Given the description of an element on the screen output the (x, y) to click on. 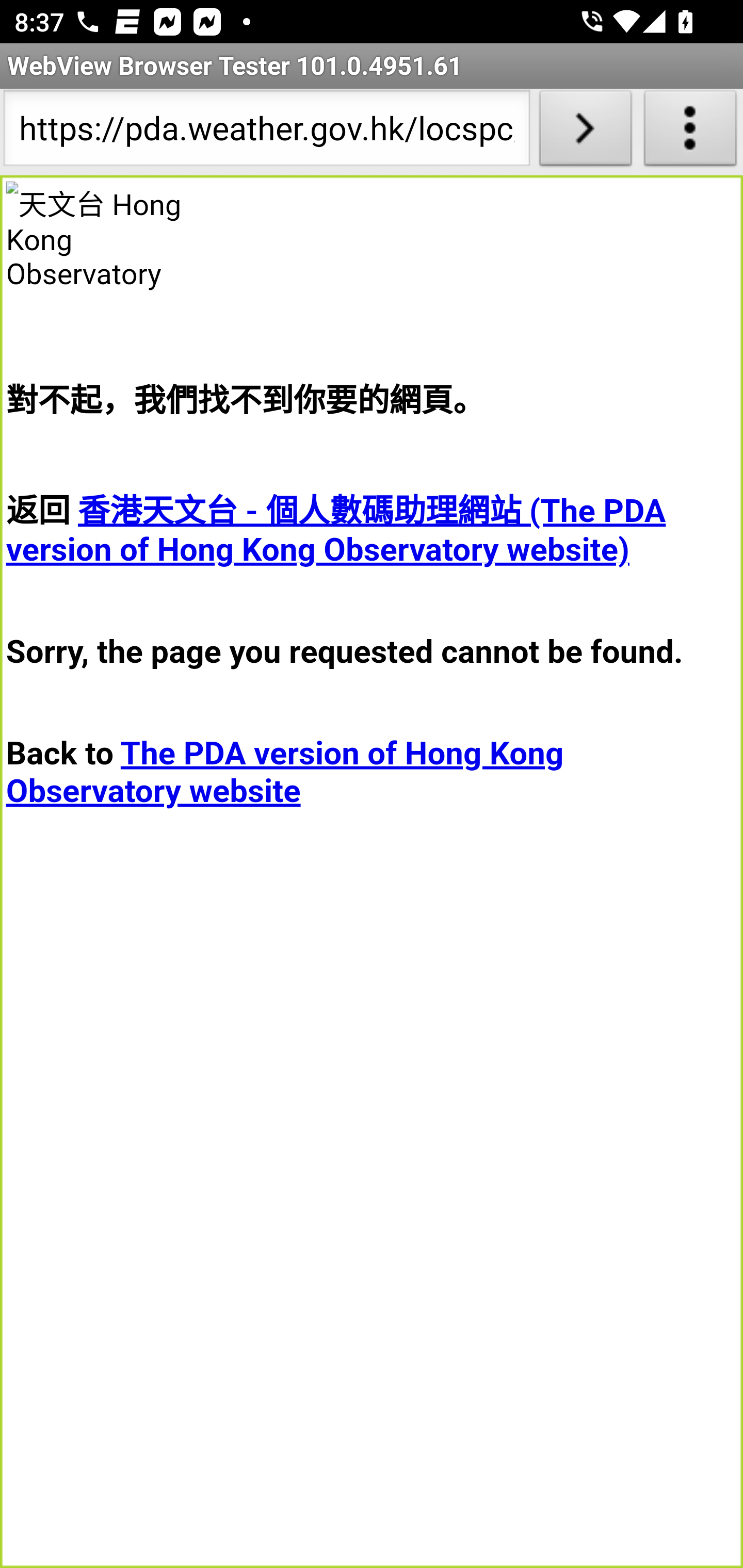
Load URL (585, 132)
About WebView (690, 132)
The PDA version of Hong Kong Observatory website (284, 771)
